Given the description of an element on the screen output the (x, y) to click on. 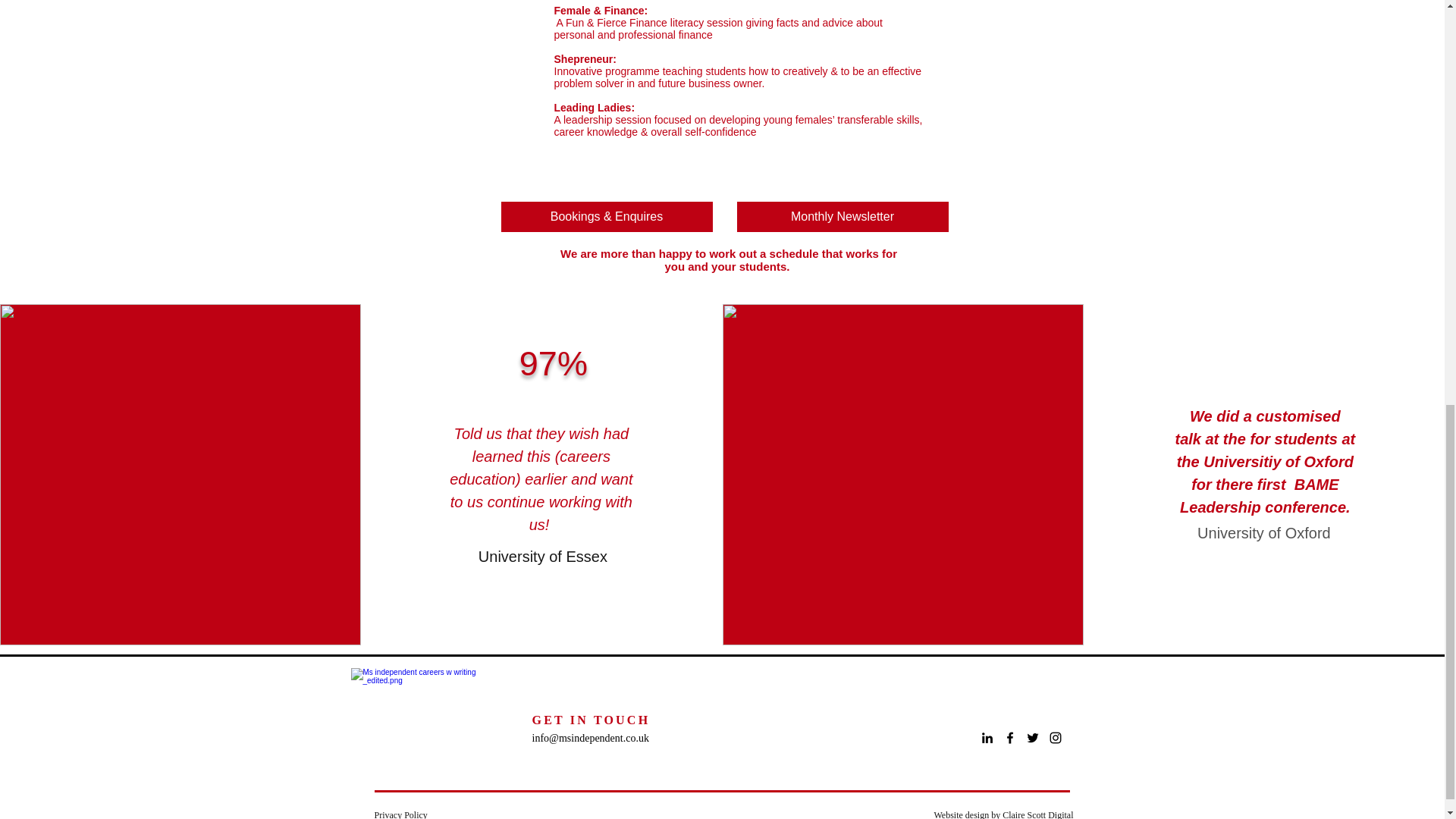
Privacy Policy (401, 814)
Monthly Newsletter (842, 216)
Website design by Claire Scott Digital (1003, 814)
